Given the description of an element on the screen output the (x, y) to click on. 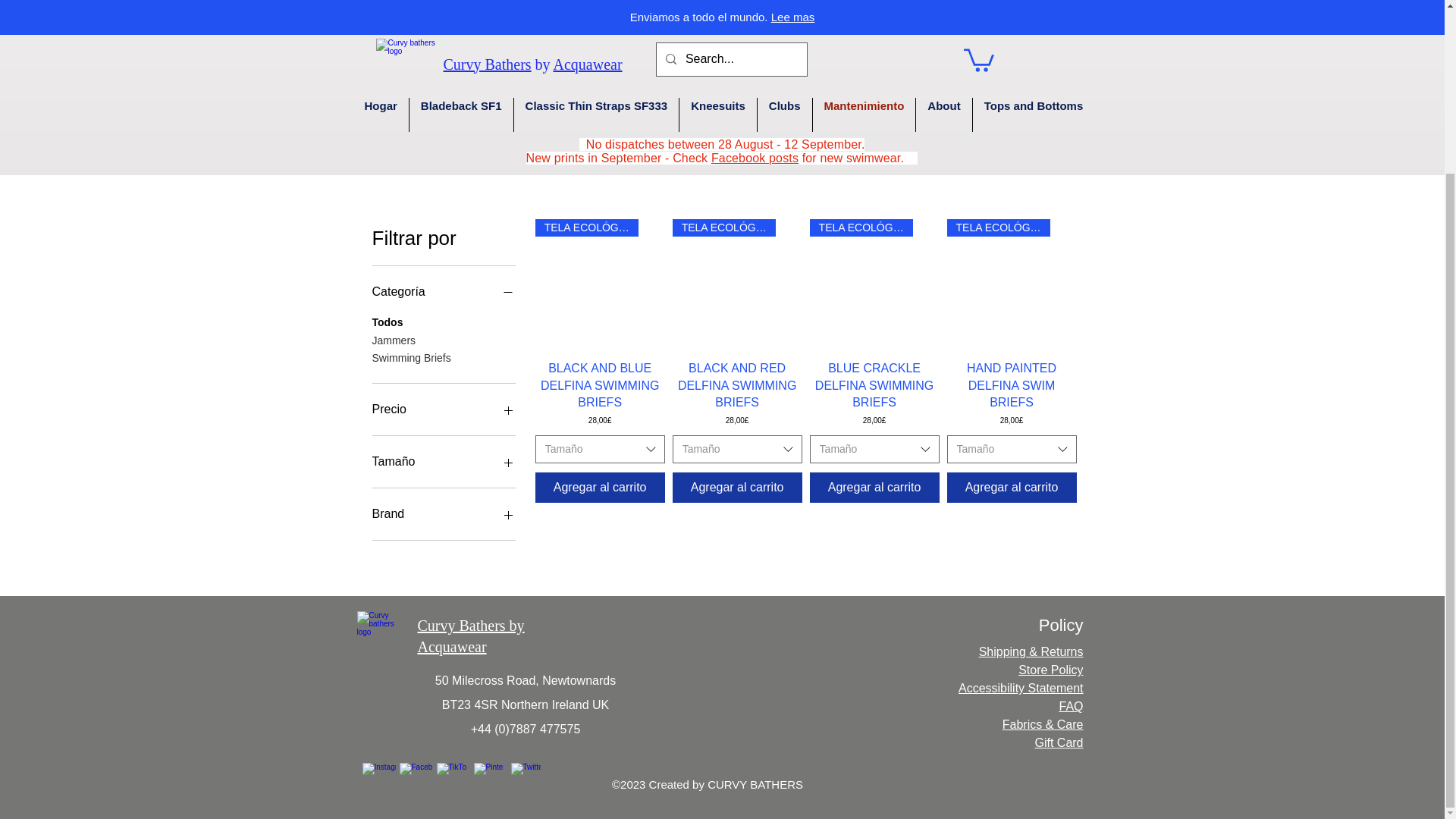
Precio (443, 409)
logo image (382, 633)
Brand (443, 513)
